Given the description of an element on the screen output the (x, y) to click on. 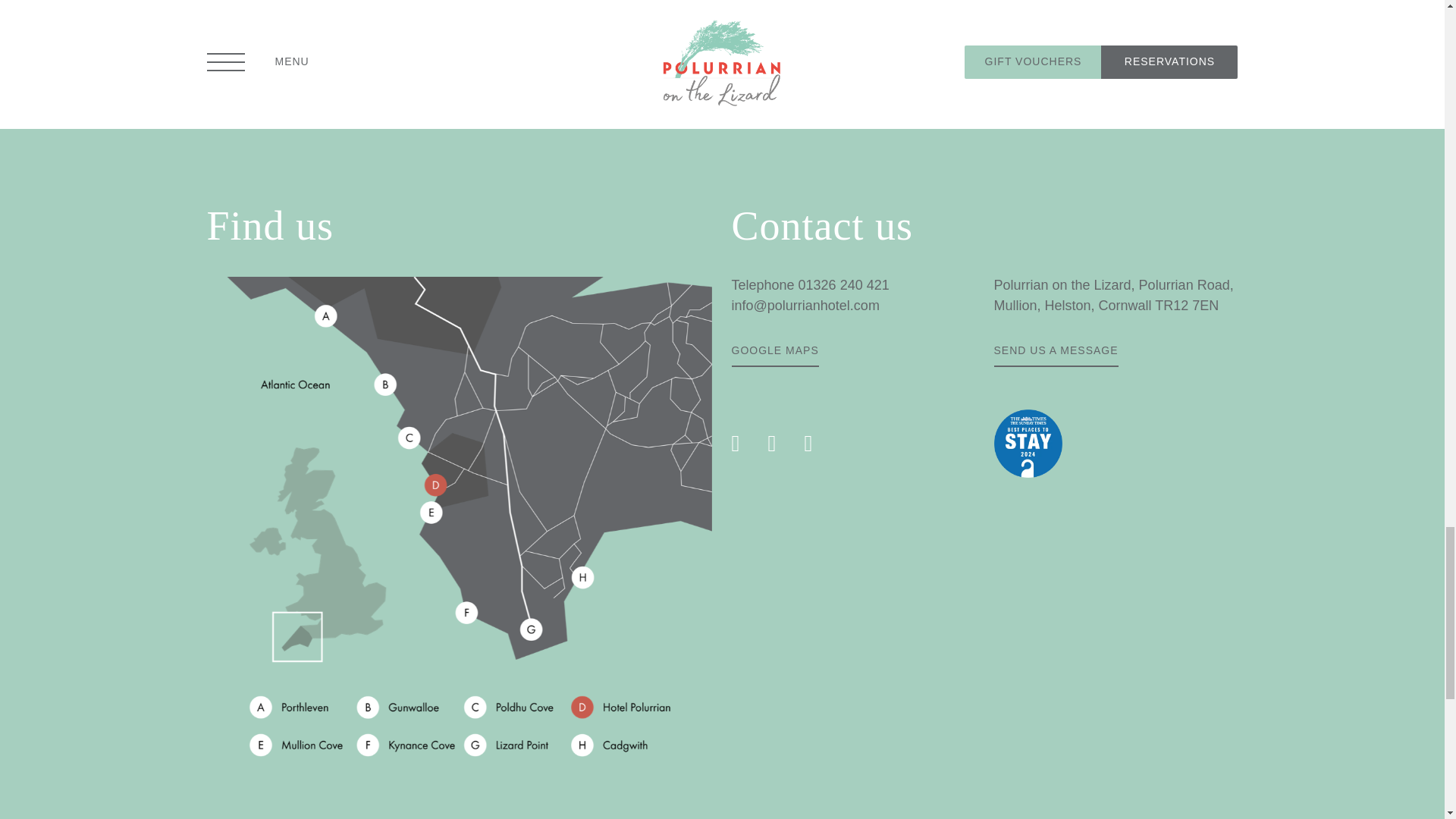
BPTS2024-General (1026, 443)
